Given the description of an element on the screen output the (x, y) to click on. 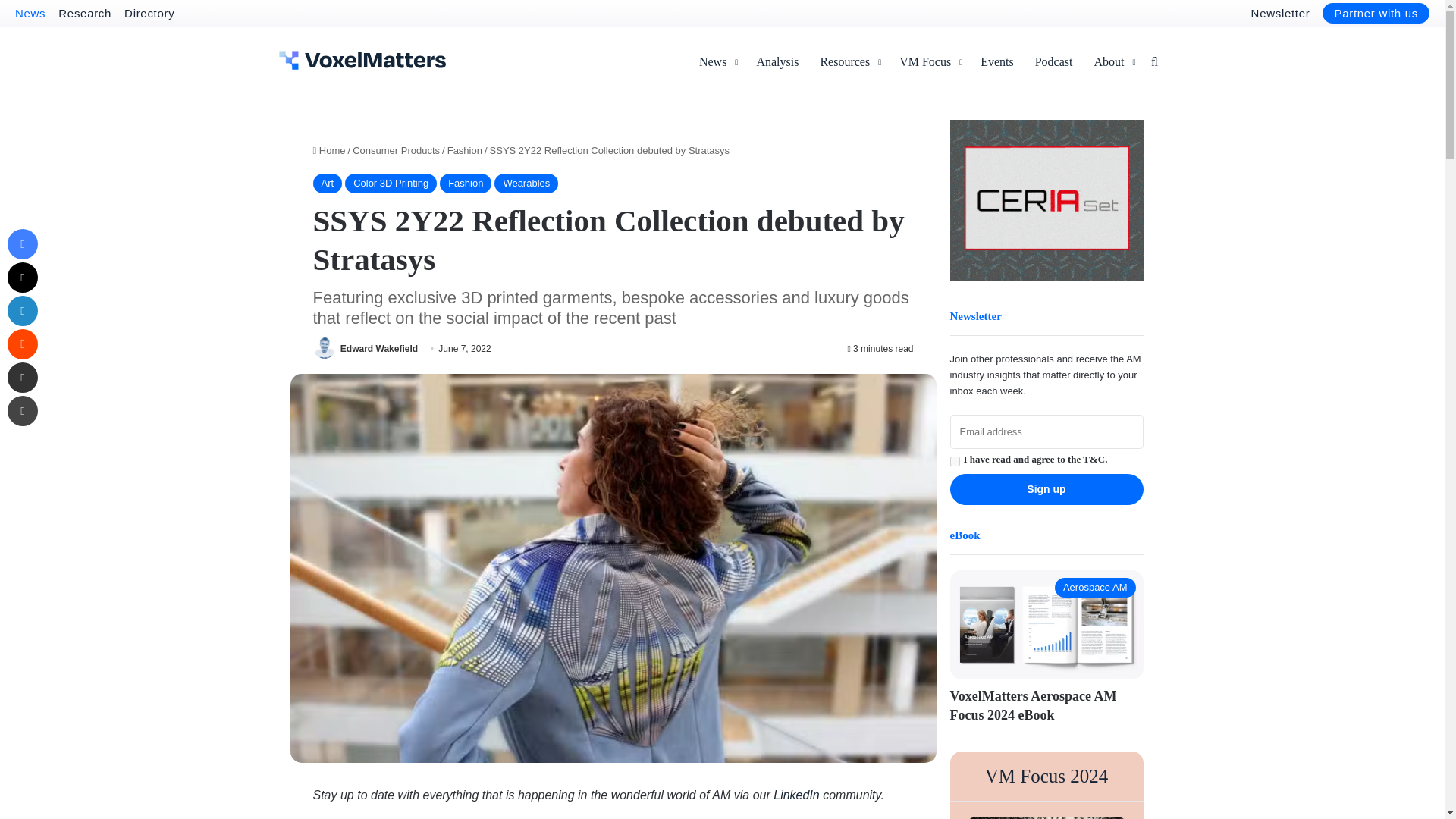
Reddit (22, 344)
Partner with us (1375, 13)
Resources (848, 62)
Share via Email (22, 377)
Analysis (777, 62)
Facebook (22, 244)
Directory (148, 12)
Print (22, 410)
Newsletter (1280, 12)
Sign up (1045, 489)
X (22, 277)
1 (954, 461)
Edward Wakefield (378, 347)
News (29, 12)
LinkedIn (22, 310)
